Given the description of an element on the screen output the (x, y) to click on. 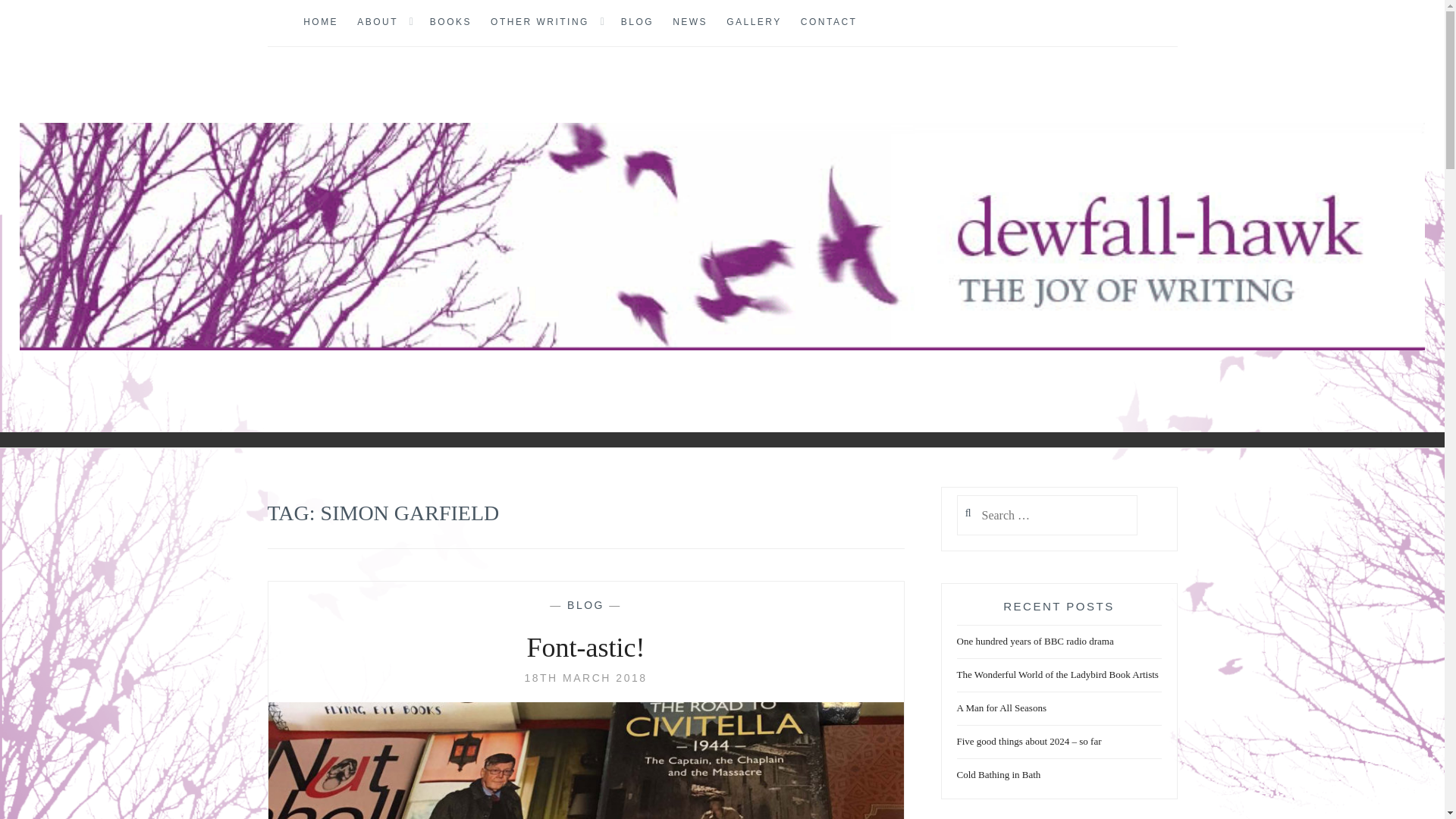
Cold Bathing in Bath (998, 775)
Font-astic! (585, 677)
The Wonderful World of the Ladybird Book Artists (1057, 675)
One hundred years of BBC radio drama (1034, 641)
18TH MARCH 2018 (585, 677)
ABOUT (376, 22)
GALLERY (753, 22)
A Man for All Seasons (1001, 707)
Font-astic! (585, 648)
BLOG (585, 604)
DEWFALL HAWK (170, 374)
NEWS (689, 22)
Search (42, 19)
BOOKS (450, 22)
OTHER WRITING (539, 22)
